Given the description of an element on the screen output the (x, y) to click on. 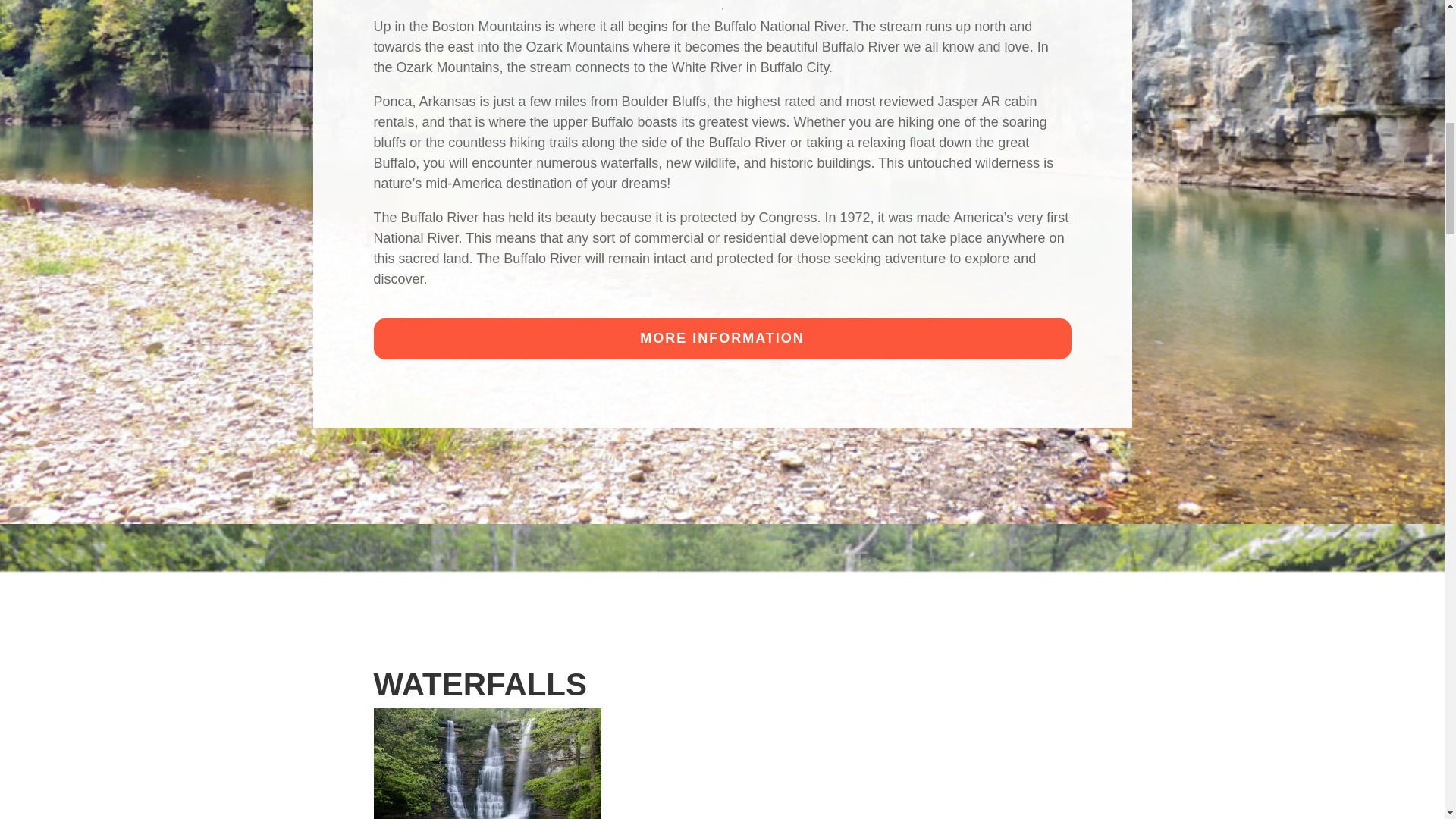
MORE INFORMATION (721, 338)
